Given the description of an element on the screen output the (x, y) to click on. 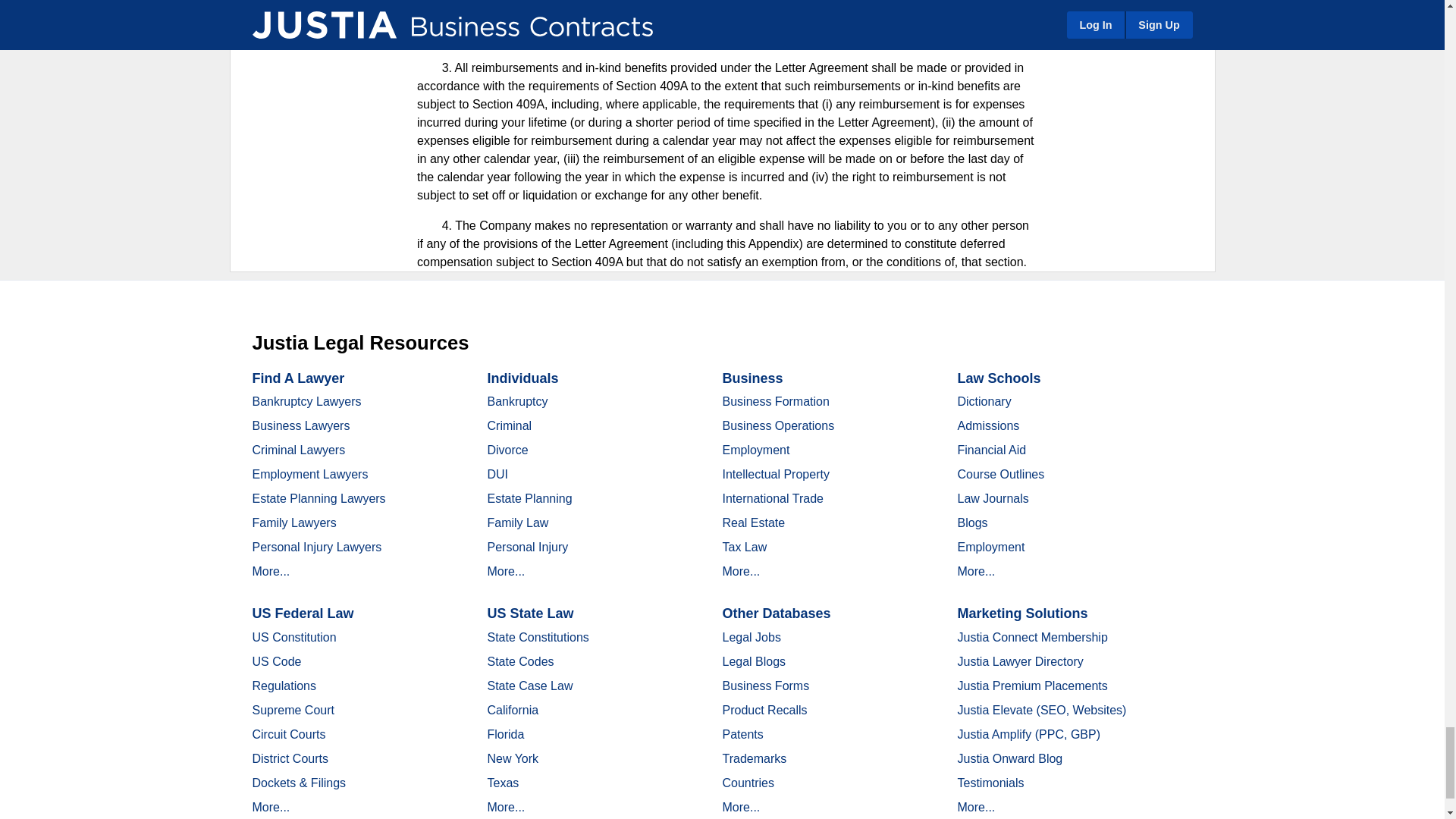
Estate Planning Lawyers (318, 498)
Employment Lawyers (309, 473)
Bankruptcy Lawyers (306, 400)
Personal Injury Lawyers (316, 546)
More... (270, 571)
Business Lawyers (300, 425)
Family Lawyers (293, 522)
Find A Lawyer (297, 378)
Criminal Lawyers (298, 449)
